Given the description of an element on the screen output the (x, y) to click on. 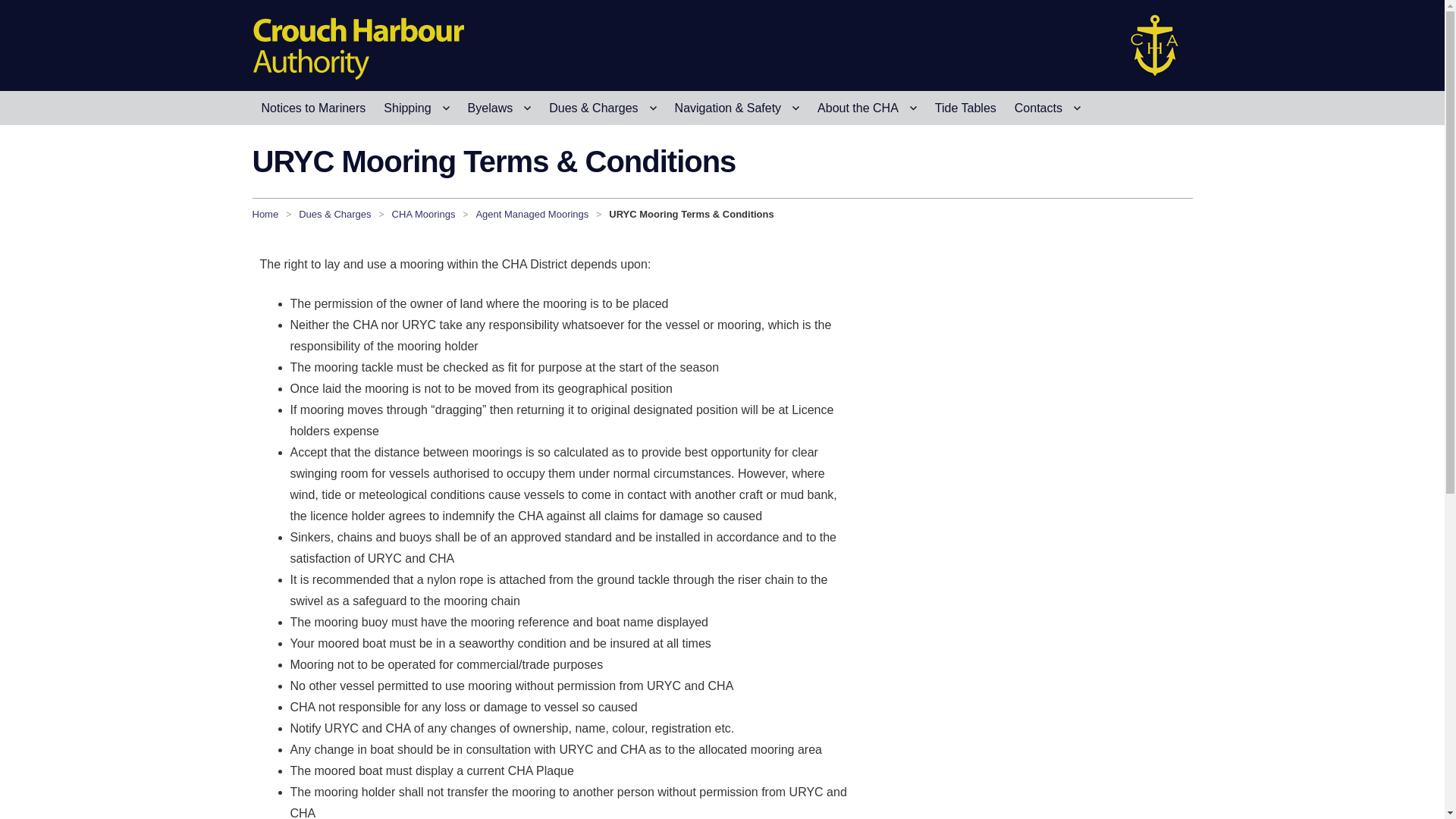
Notices to Mariners (312, 107)
Agent Managed Moorings (532, 214)
Home (264, 214)
Byelaws (499, 107)
Shipping (416, 107)
CHA Moorings (423, 214)
